Given the description of an element on the screen output the (x, y) to click on. 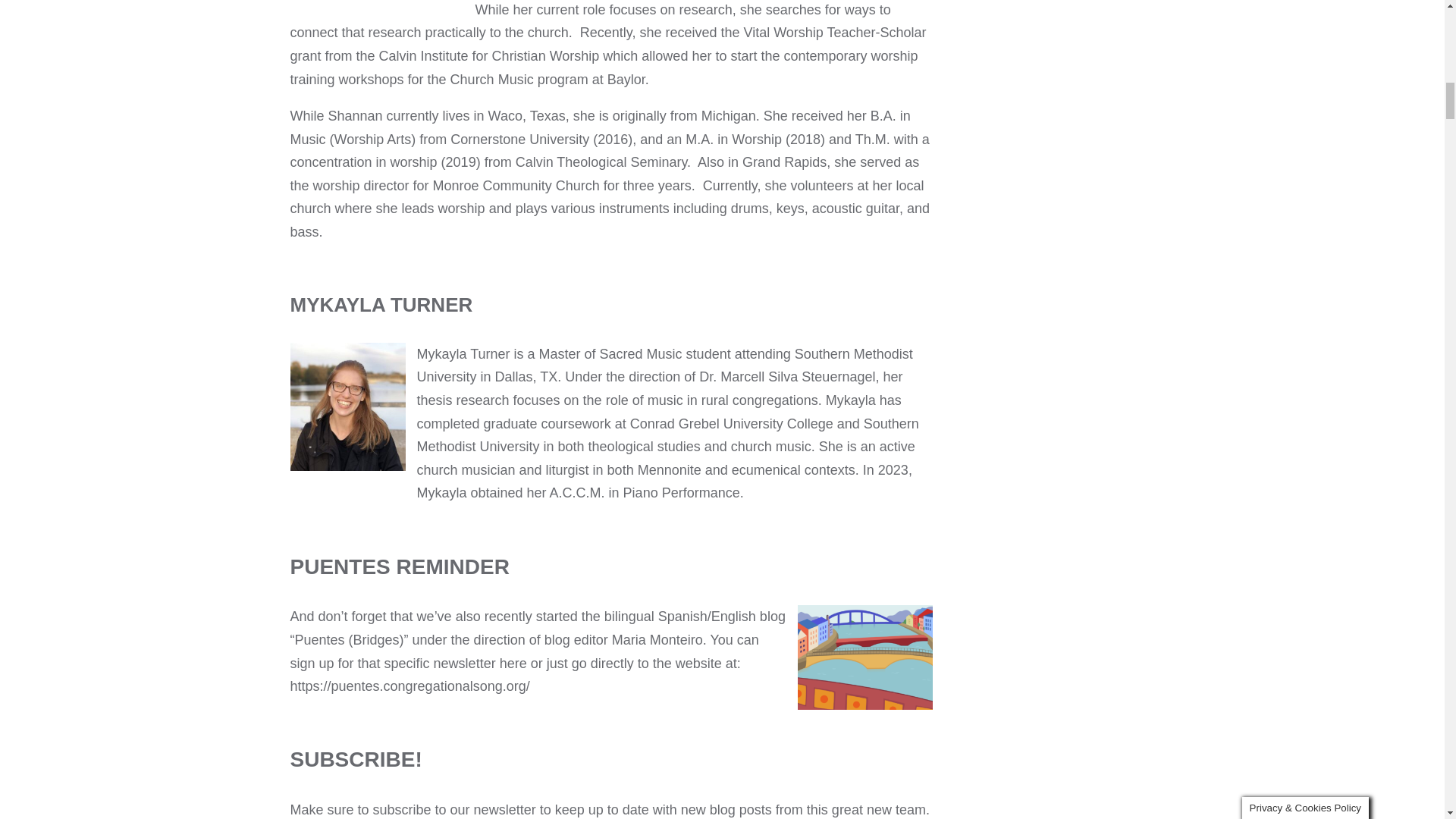
sign up for that specific newsletter here (407, 663)
